Given the description of an element on the screen output the (x, y) to click on. 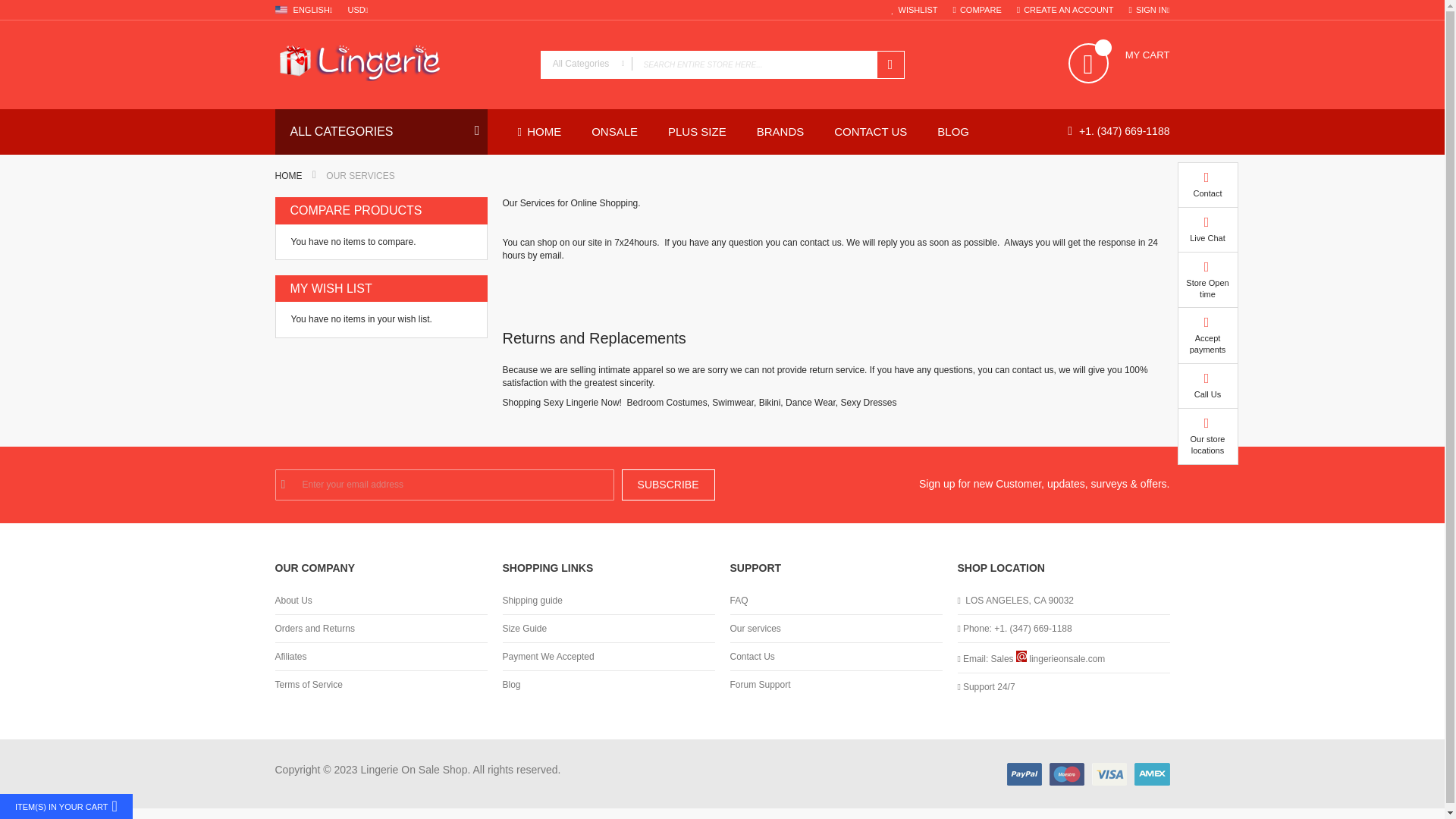
All Categories (586, 63)
Search (889, 64)
Go to Home Page (288, 175)
CREATE AN ACCOUNT (1064, 9)
COMPARE (977, 9)
Lingerie On Sale Shop (399, 63)
WISHLIST (914, 9)
Compare (977, 9)
